Given the description of an element on the screen output the (x, y) to click on. 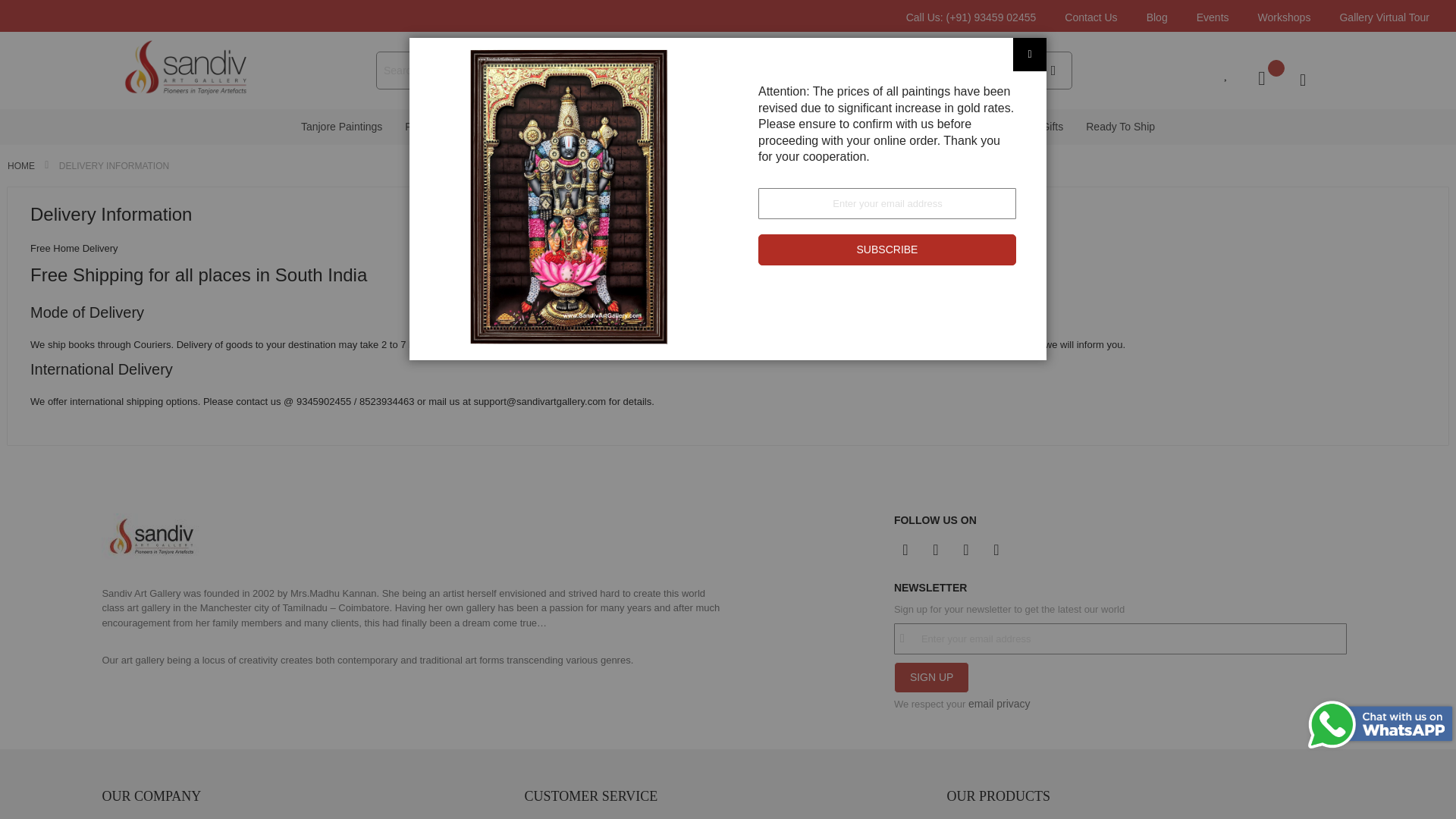
Contact Us (1096, 17)
Gallery Virtual Tour (1390, 17)
Sign Up (931, 676)
Tanjore Paintings (341, 126)
Go to Home Page (22, 165)
Subscribe (887, 249)
Events (1218, 17)
Workshops (1289, 17)
SEARCH (1052, 66)
Search (1052, 66)
MY CART (1268, 78)
Blog (1163, 17)
Wishlist (1231, 73)
